Given the description of an element on the screen output the (x, y) to click on. 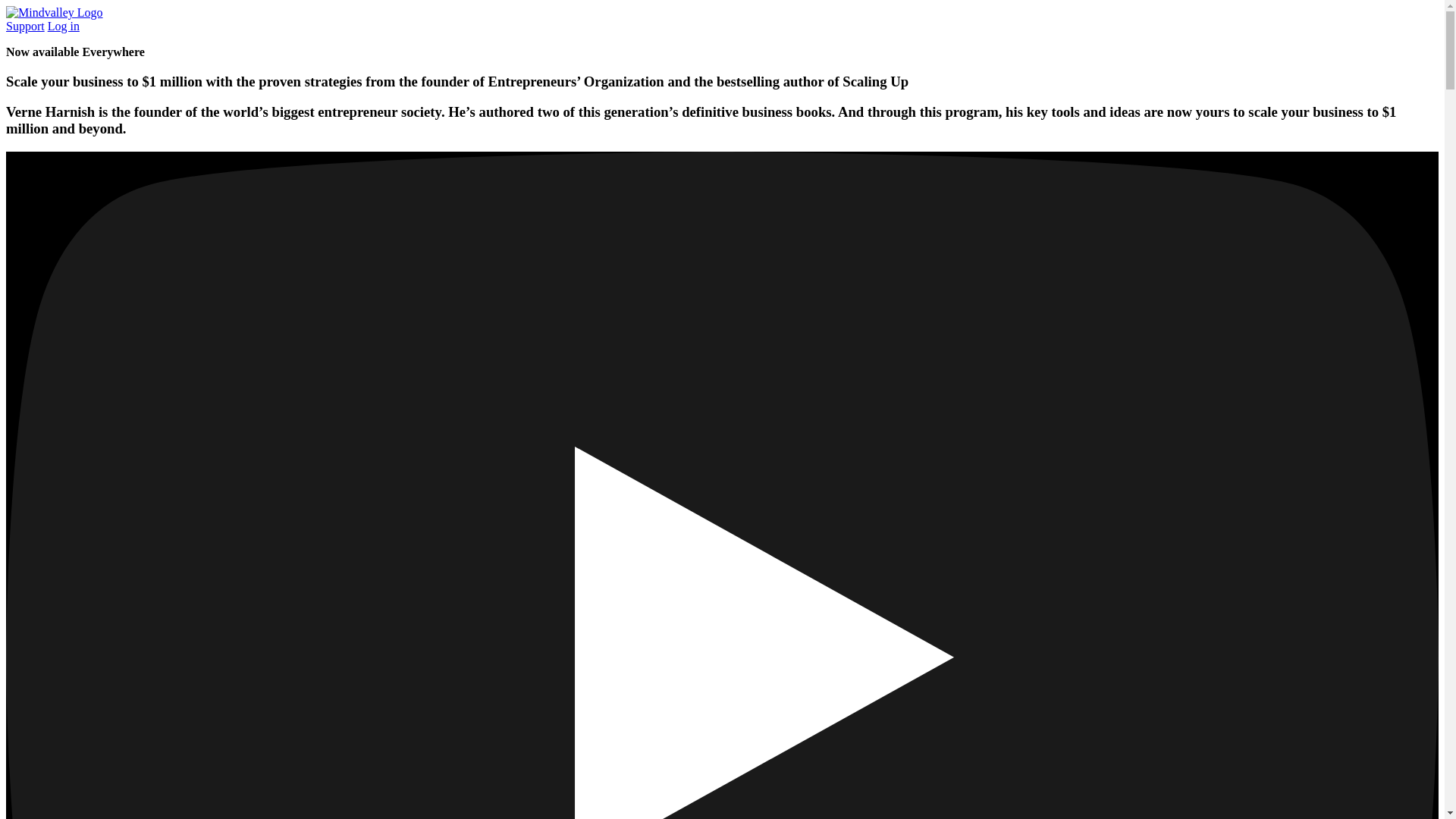
Log in (64, 25)
Log in (64, 25)
Support (25, 25)
